Given the description of an element on the screen output the (x, y) to click on. 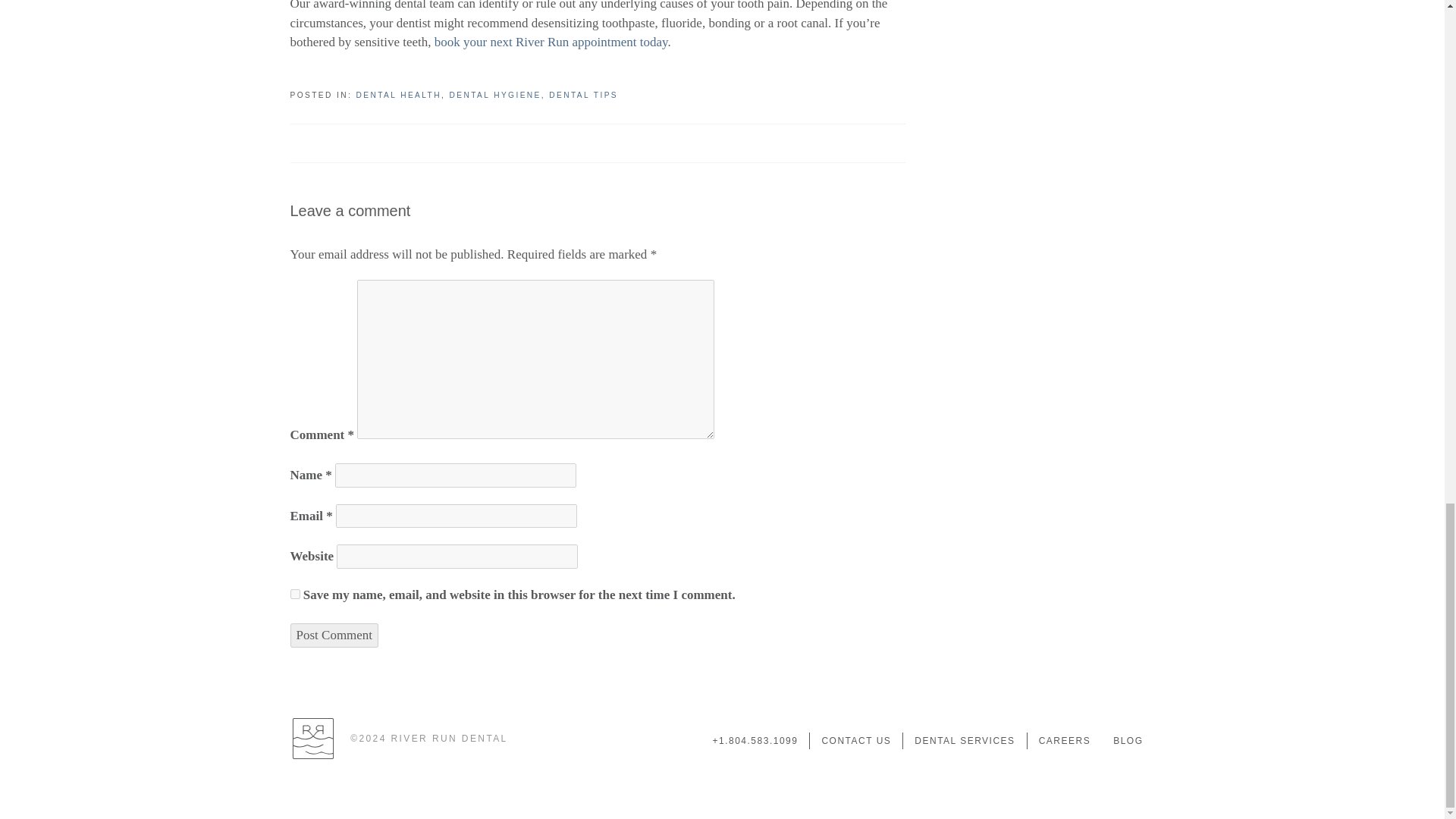
yes (294, 593)
Post Comment (333, 635)
